Given the description of an element on the screen output the (x, y) to click on. 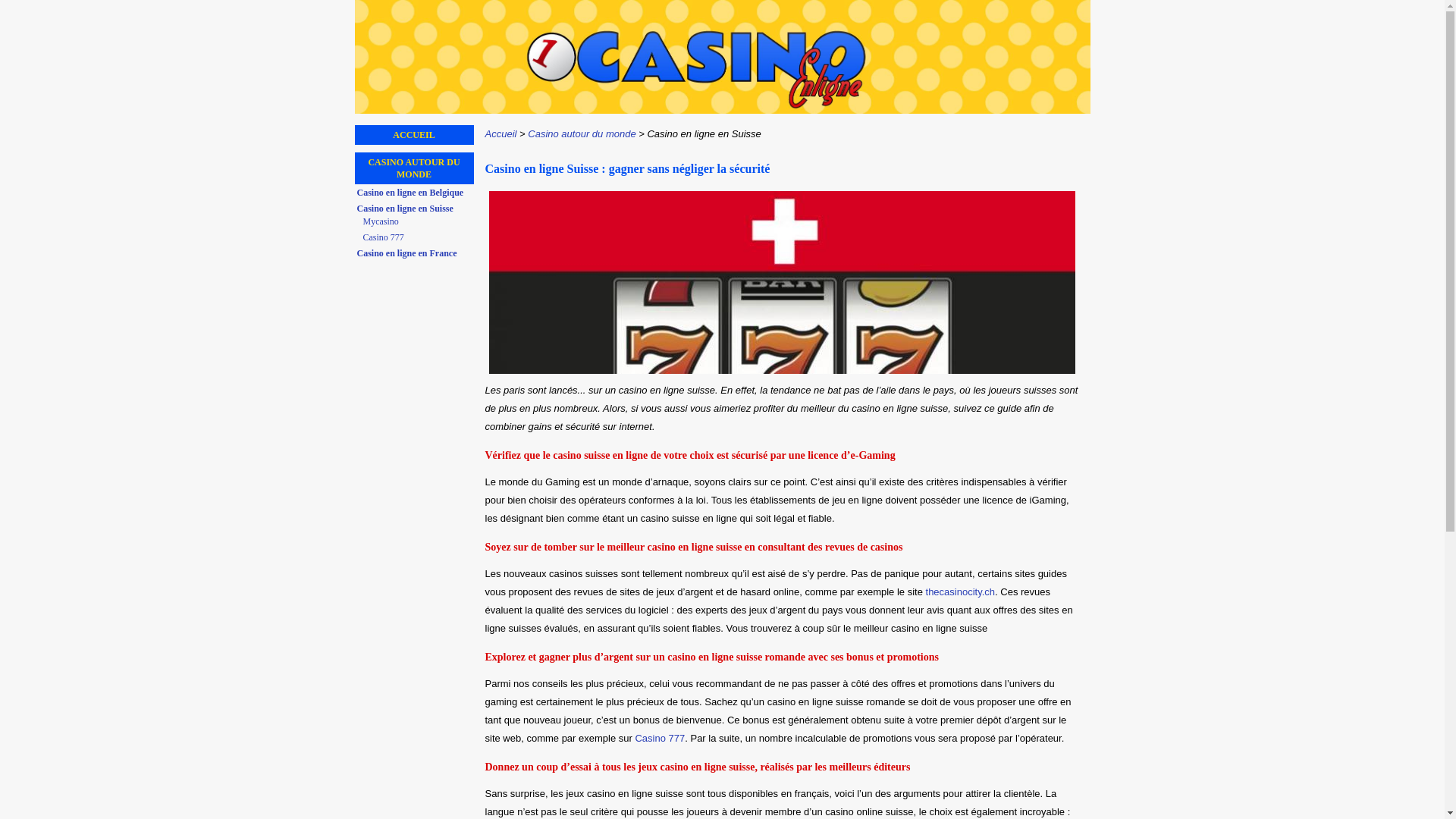
Mycasino Element type: text (416, 220)
Casino en ligne en Suisse Element type: text (414, 208)
ACCUEIL Element type: text (413, 134)
Casino en ligne en France Element type: text (414, 252)
Casino autour du monde Element type: text (581, 133)
Casino 777 Element type: text (416, 236)
Casino 777 Element type: text (659, 737)
CASINO AUTOUR DU MONDE Element type: text (413, 168)
Casino en ligne en Suisse Element type: text (703, 133)
thecasinocity.ch Element type: text (960, 591)
Casino en ligne en Belgique Element type: text (414, 192)
Accueil Element type: text (501, 133)
